Given the description of an element on the screen output the (x, y) to click on. 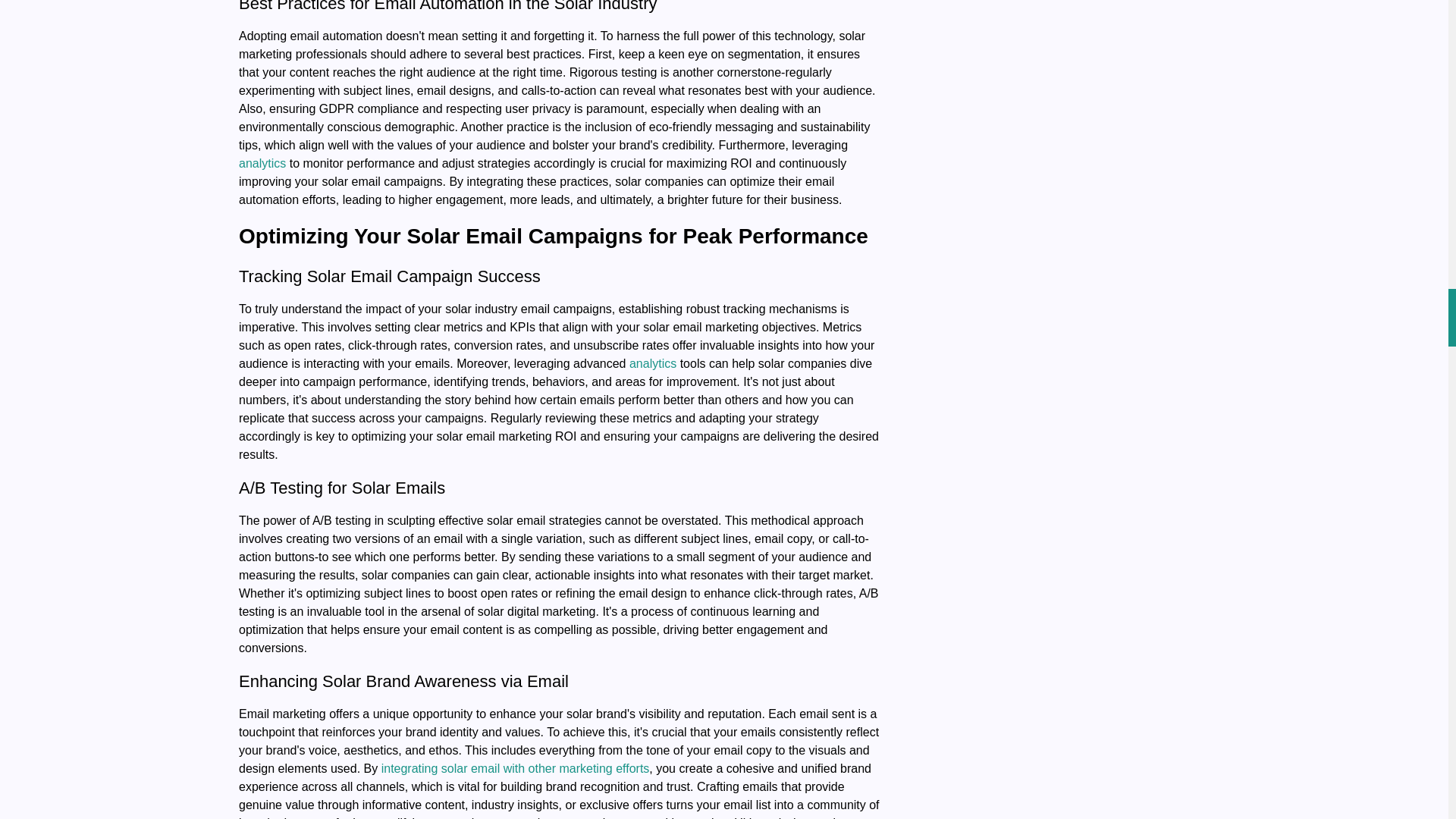
analytics (261, 163)
integrating solar email with other marketing efforts (515, 768)
analytics (652, 363)
